Given the description of an element on the screen output the (x, y) to click on. 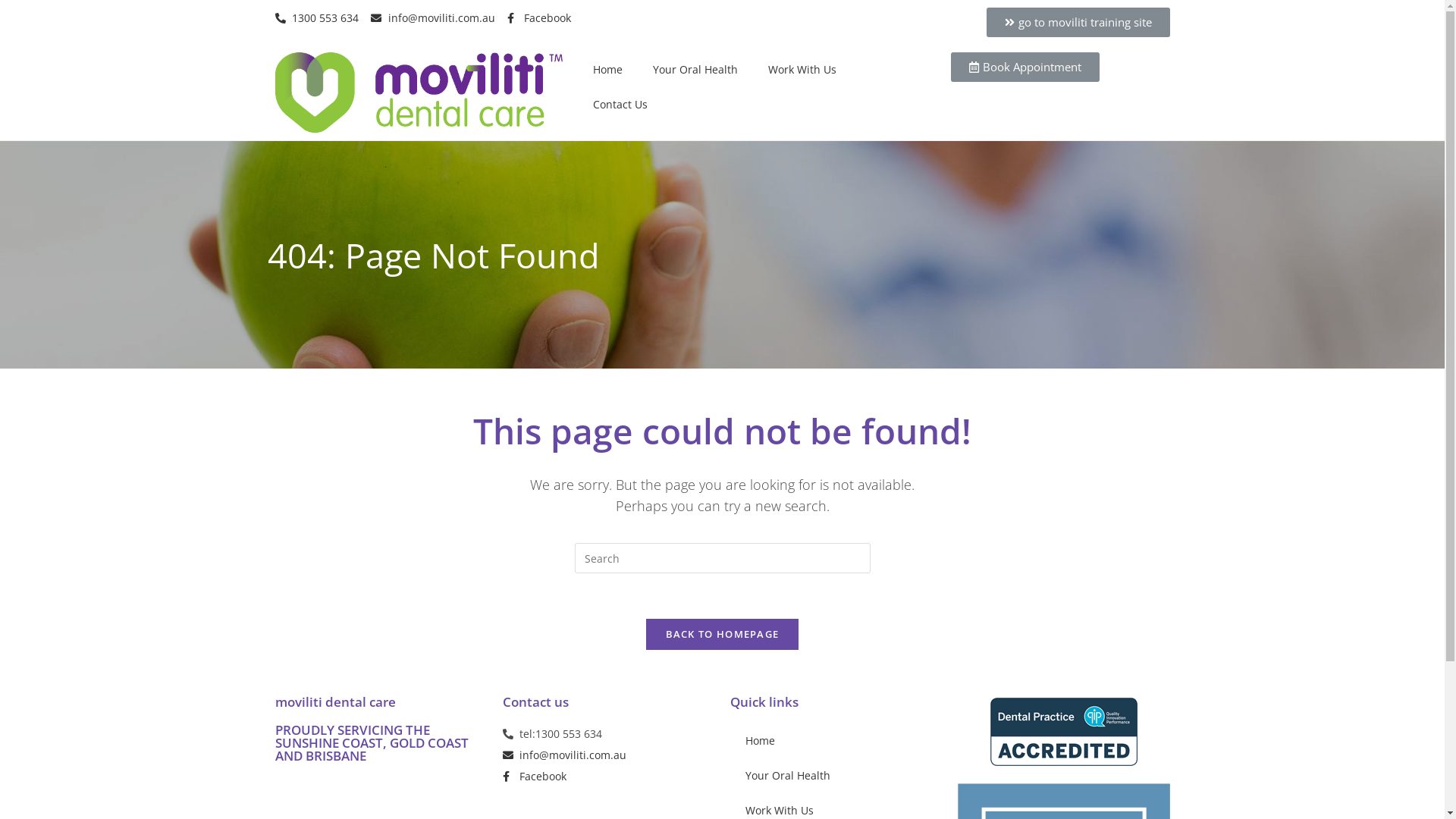
info@moviliti.com.au Element type: text (432, 17)
Your Oral Health Element type: text (835, 775)
Book Appointment Element type: text (1024, 66)
BACK TO HOMEPAGE Element type: text (722, 633)
info@moviliti.com.au Element type: text (608, 754)
Facebook Element type: text (538, 17)
1300 553 634 Element type: text (316, 17)
Your Oral Health Element type: text (695, 69)
Home Element type: text (835, 740)
Facebook Element type: text (608, 776)
Home Element type: text (607, 69)
Work With Us Element type: text (802, 69)
go to moviliti training site Element type: text (1077, 22)
Contact Us Element type: text (619, 104)
